Given the description of an element on the screen output the (x, y) to click on. 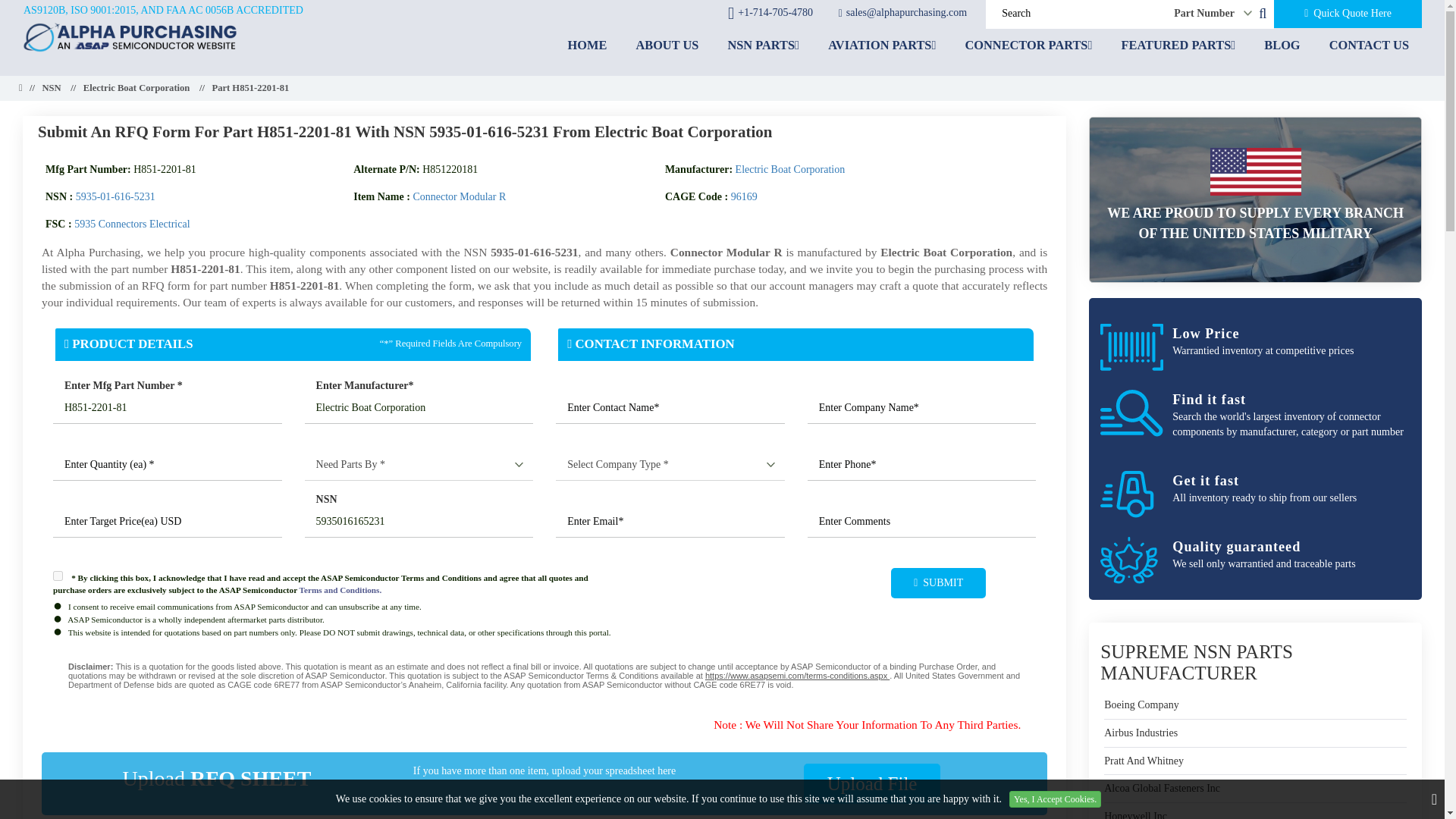
Electric Boat Corporation (136, 88)
NSN (51, 88)
HOME (587, 44)
CONTACT US (1369, 44)
ABOUT US (667, 44)
Electric Boat Corporation (419, 408)
BLOG (1281, 44)
on (57, 575)
CONNECTOR PARTS (1028, 44)
RFQ disclaimer (543, 675)
H851-2201-81 (167, 408)
FEATURED PARTS (1178, 44)
  Quick Quote Here (1348, 13)
NSN PARTS (763, 44)
5935016165231 (419, 521)
